Given the description of an element on the screen output the (x, y) to click on. 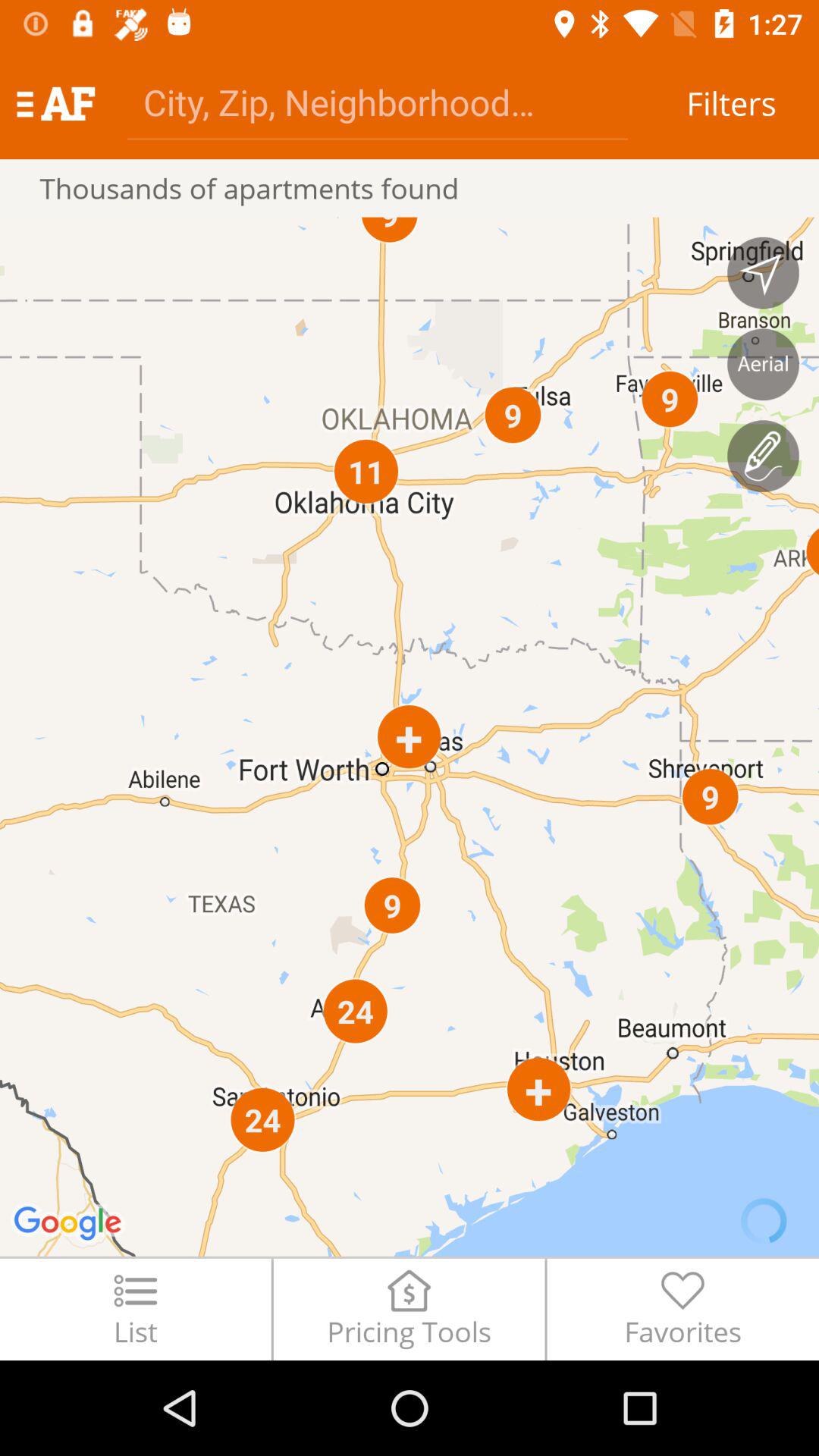
search input box (377, 102)
